Given the description of an element on the screen output the (x, y) to click on. 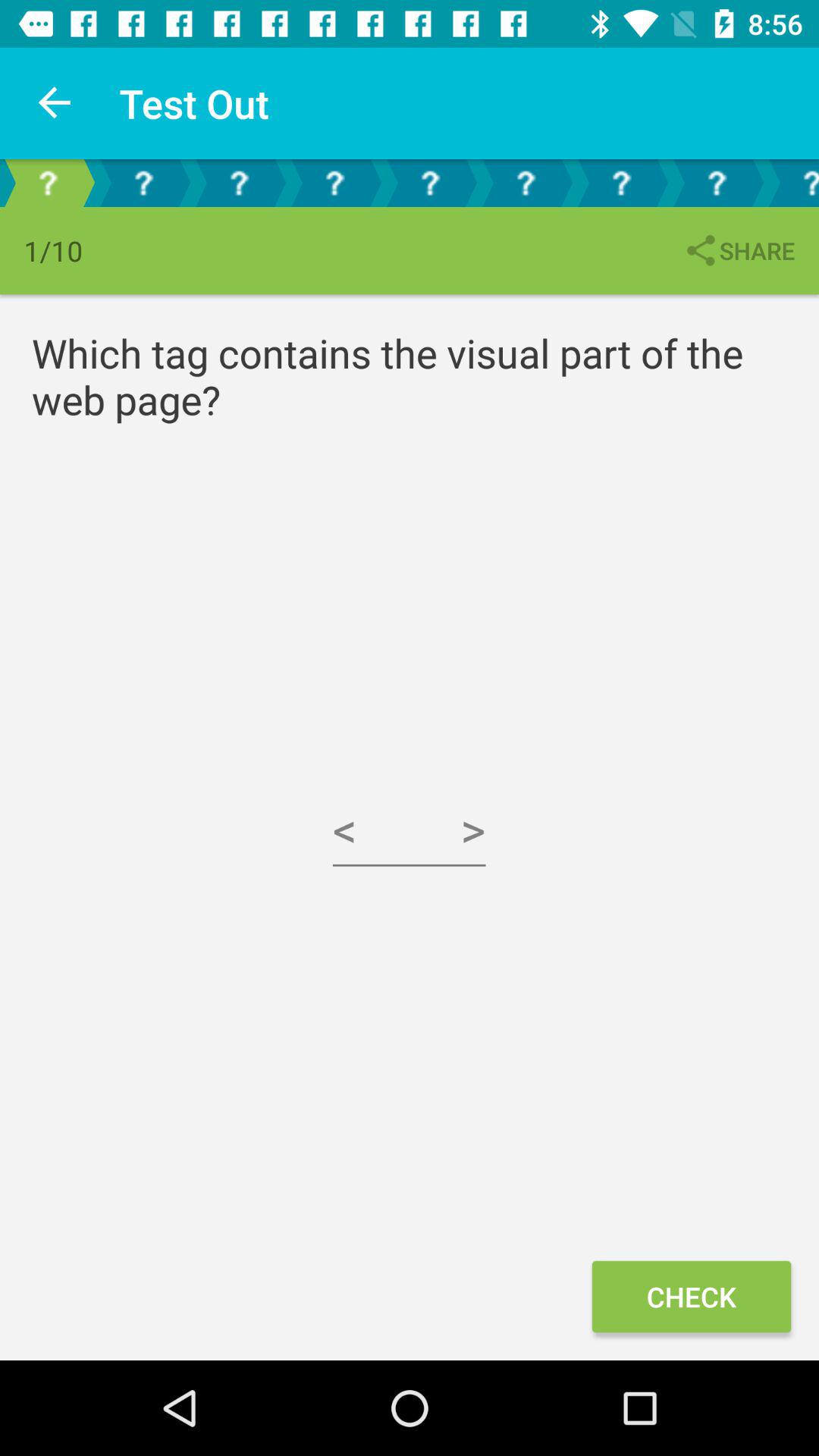
press the icon at the center (408, 829)
